Given the description of an element on the screen output the (x, y) to click on. 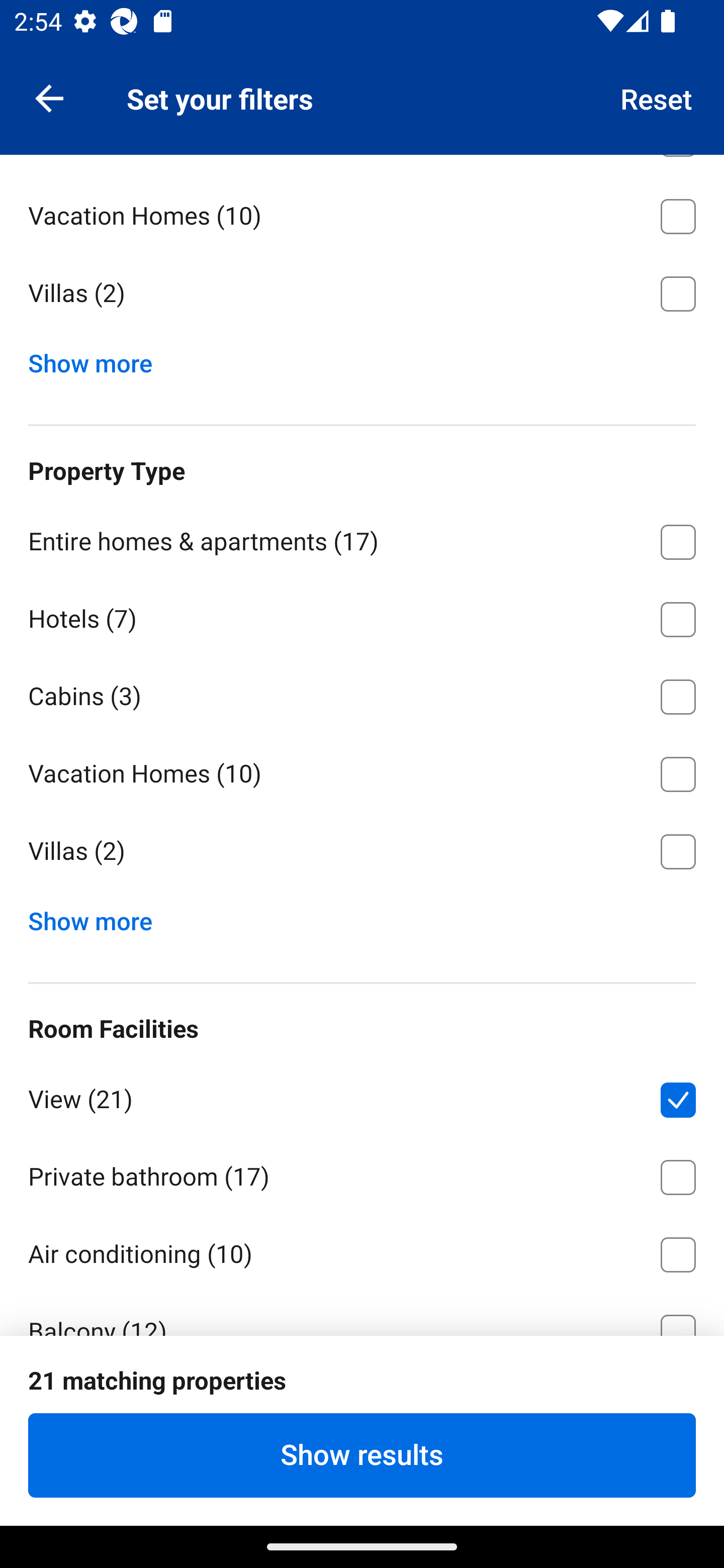
Navigate up (49, 97)
Reset (656, 97)
Vacation Homes ⁦(10) (361, 213)
Villas ⁦(2) (361, 293)
Show more (97, 358)
Entire homes & apartments ⁦(17) (361, 538)
Hotels ⁦(7) (361, 616)
Cabins ⁦(3) (361, 693)
Vacation Homes ⁦(10) (361, 770)
Villas ⁦(2) (361, 851)
Show more (97, 916)
View ⁦(21) (361, 1096)
Private bathroom ⁦(17) (361, 1173)
Air conditioning ⁦(10) (361, 1251)
Balcony ⁦(12) (361, 1312)
Show results (361, 1454)
